Given the description of an element on the screen output the (x, y) to click on. 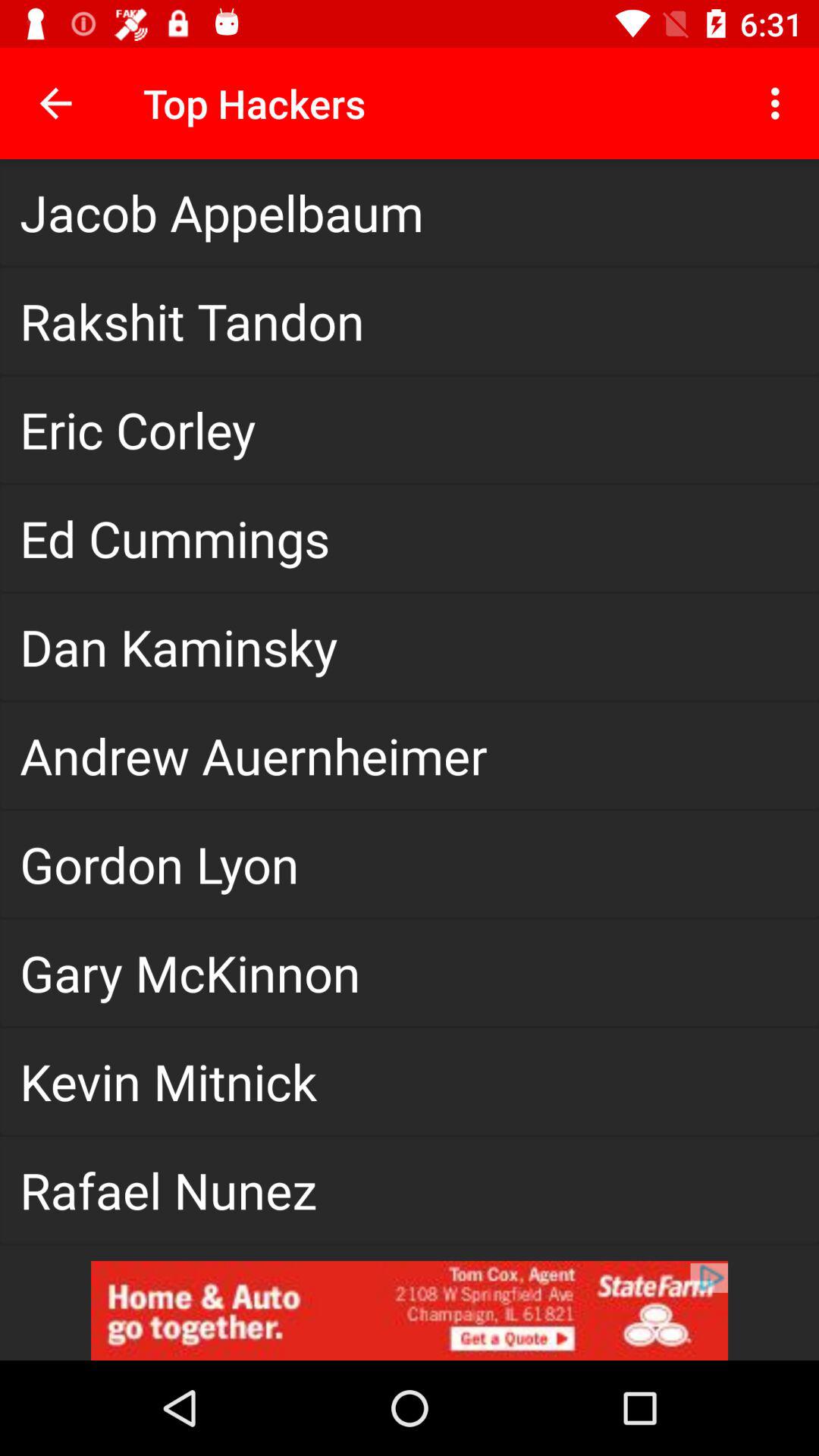
click on advertisement (409, 1310)
